Given the description of an element on the screen output the (x, y) to click on. 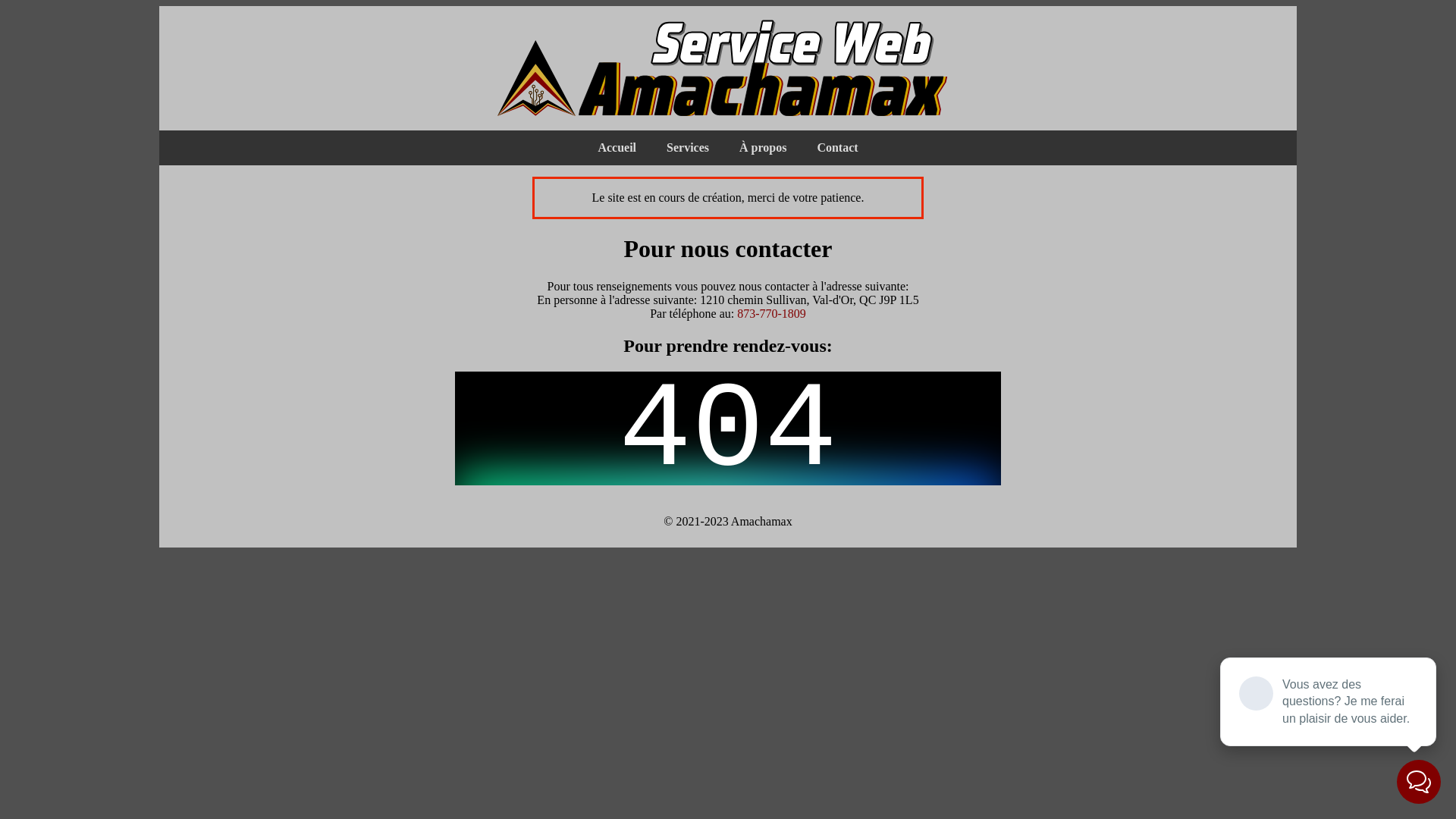
Services Element type: text (687, 147)
873-770-1809 Element type: text (771, 313)
Accueil Element type: text (616, 147)
Contact Element type: text (836, 147)
